Given the description of an element on the screen output the (x, y) to click on. 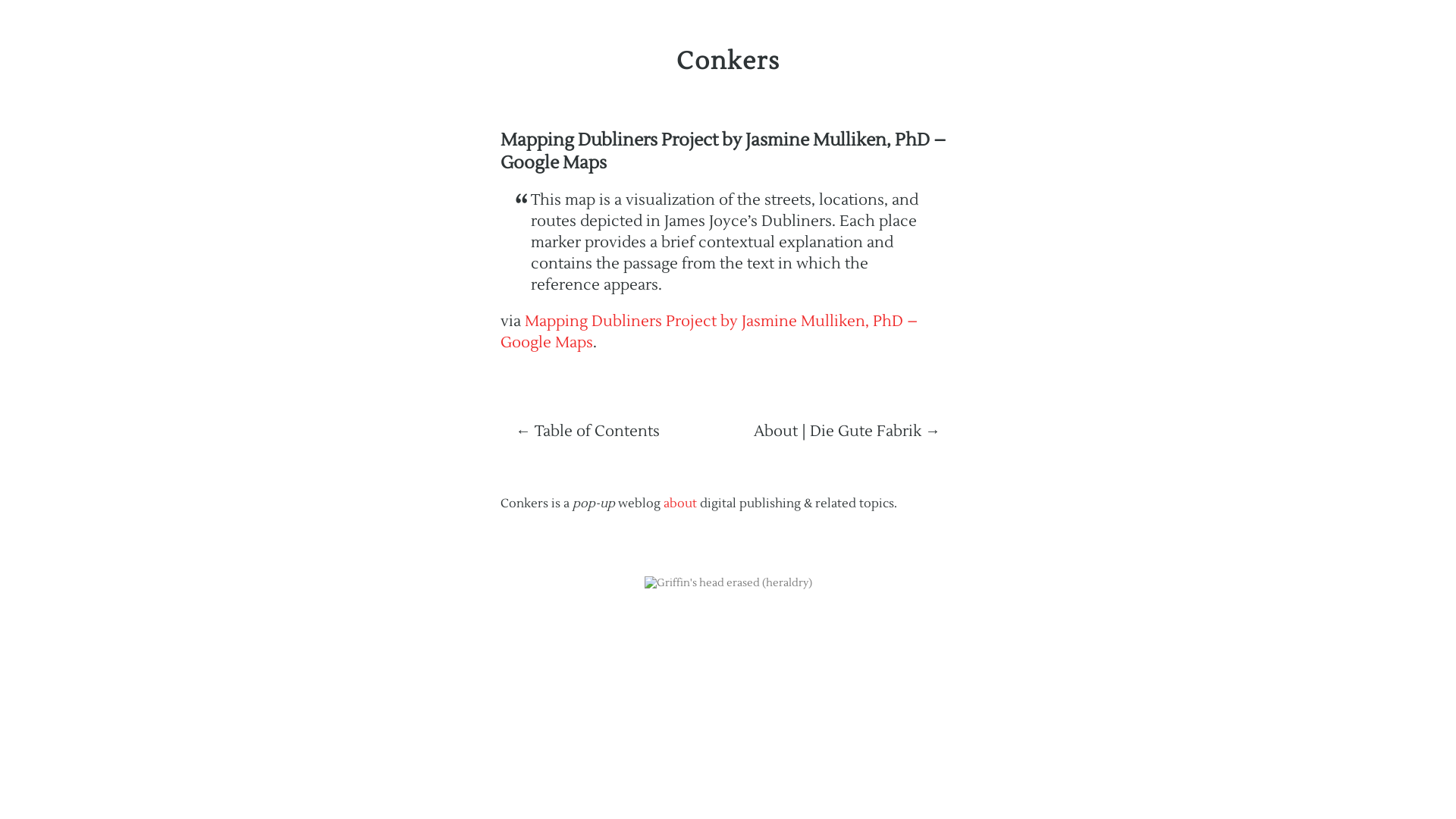
Conkers Element type: text (727, 60)
about Element type: text (679, 503)
